Given the description of an element on the screen output the (x, y) to click on. 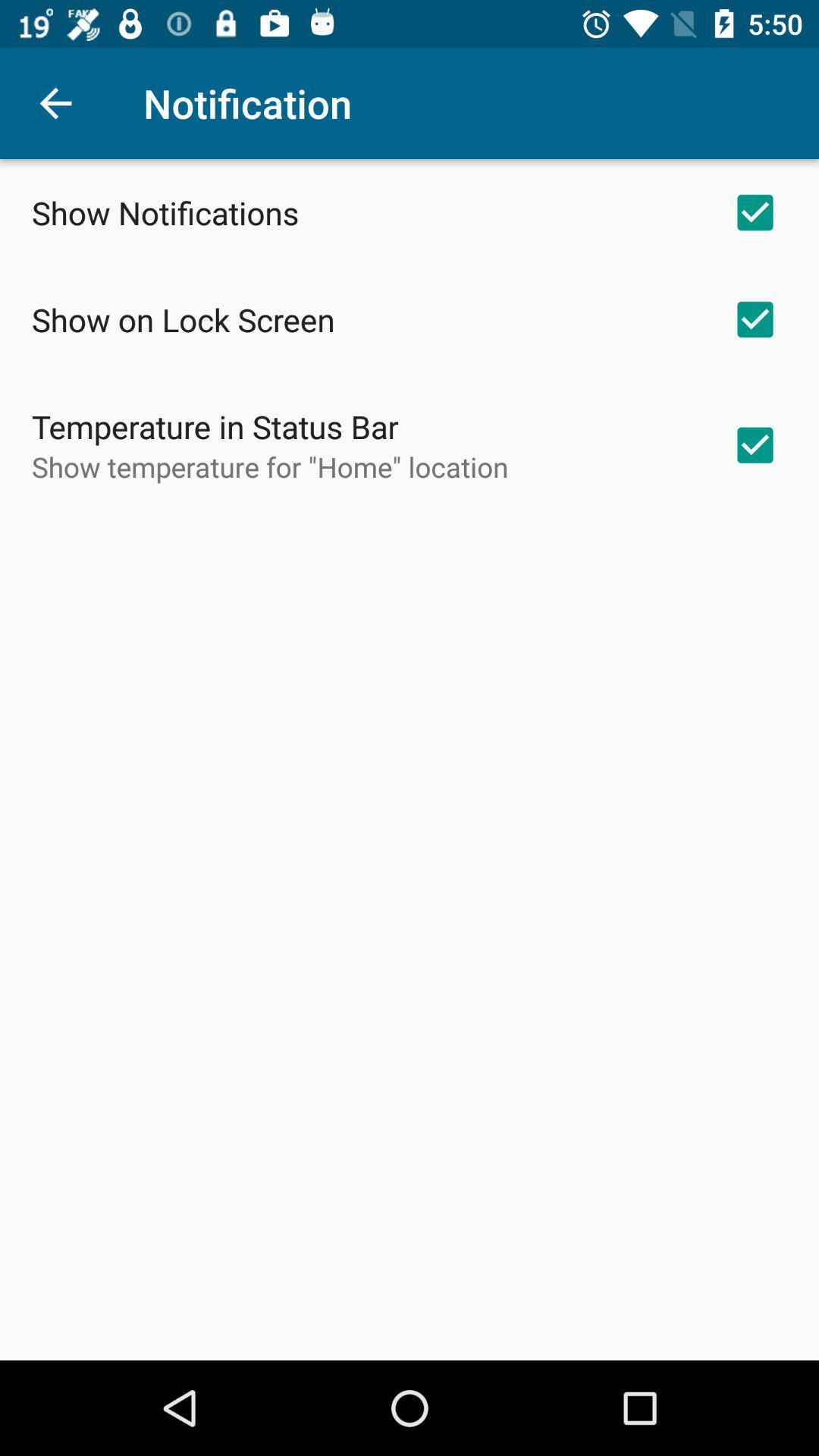
open icon to the left of notification item (55, 103)
